Given the description of an element on the screen output the (x, y) to click on. 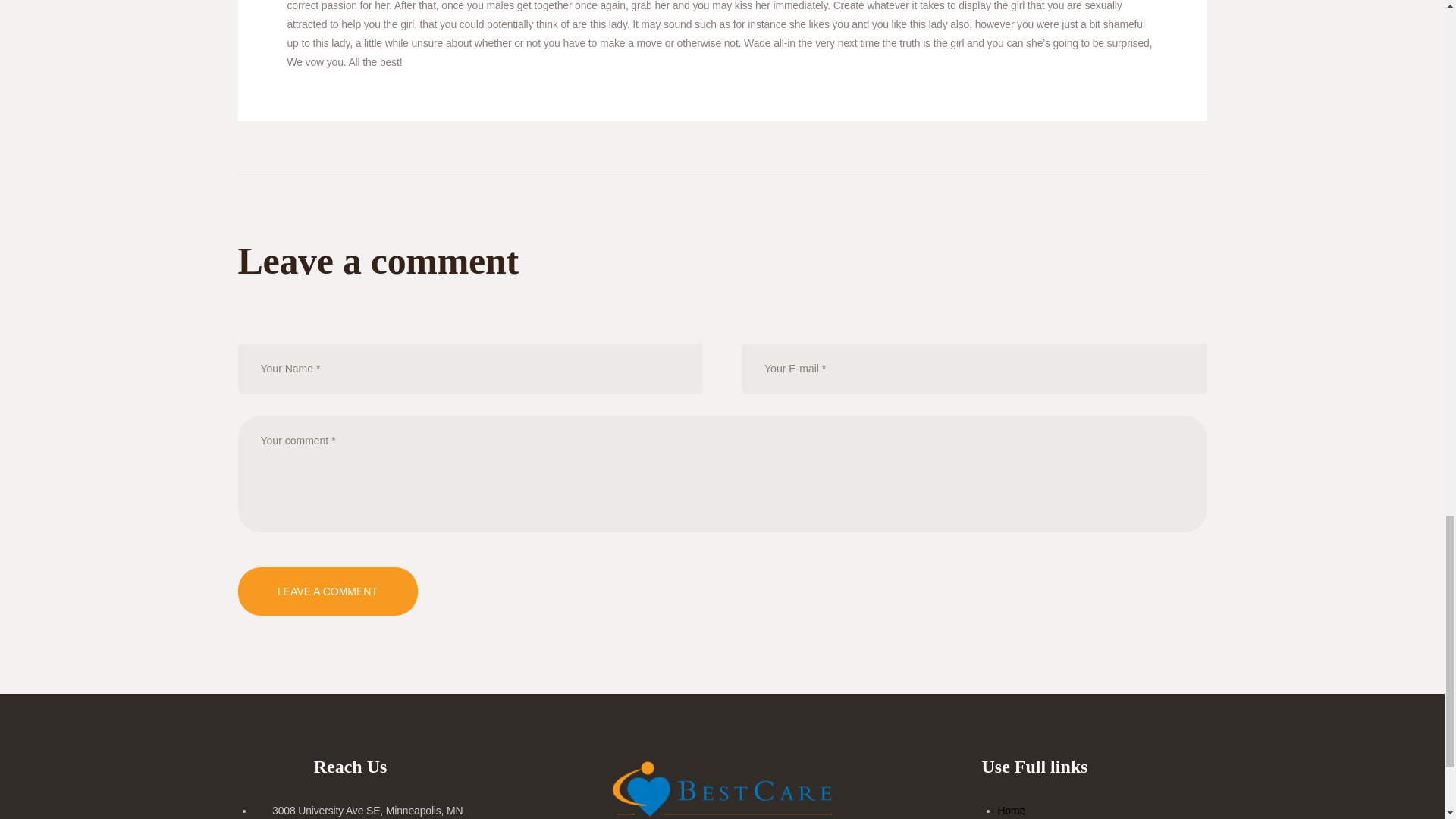
Leave a comment (327, 591)
best care copy (721, 788)
